Given the description of an element on the screen output the (x, y) to click on. 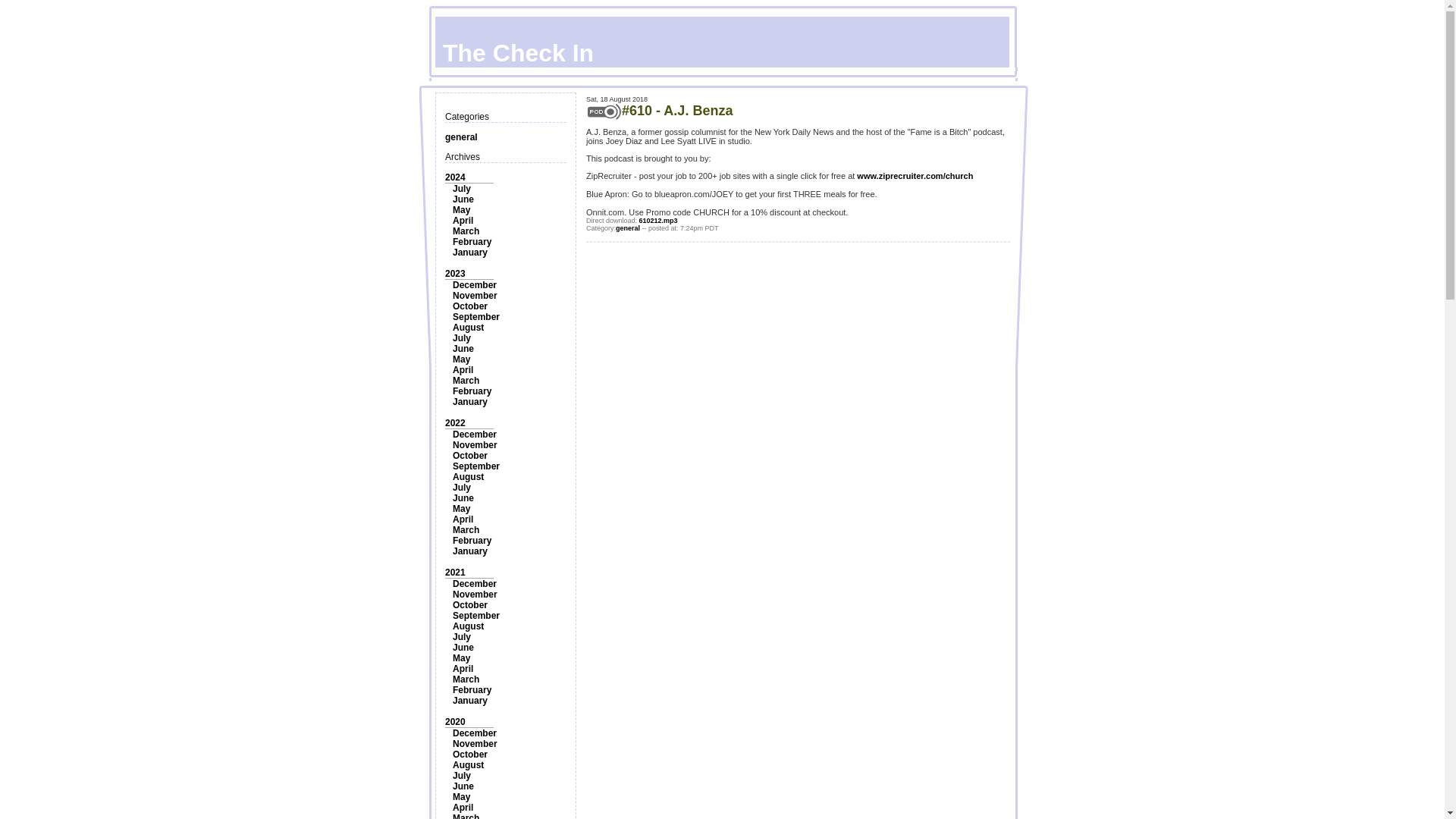
June (463, 199)
2024 (455, 176)
2022 (455, 422)
February (472, 540)
May (461, 508)
February (472, 241)
October (469, 604)
September (475, 615)
February (472, 390)
August (467, 327)
July (461, 337)
July (461, 188)
April (462, 519)
July (461, 487)
March (465, 529)
